Given the description of an element on the screen output the (x, y) to click on. 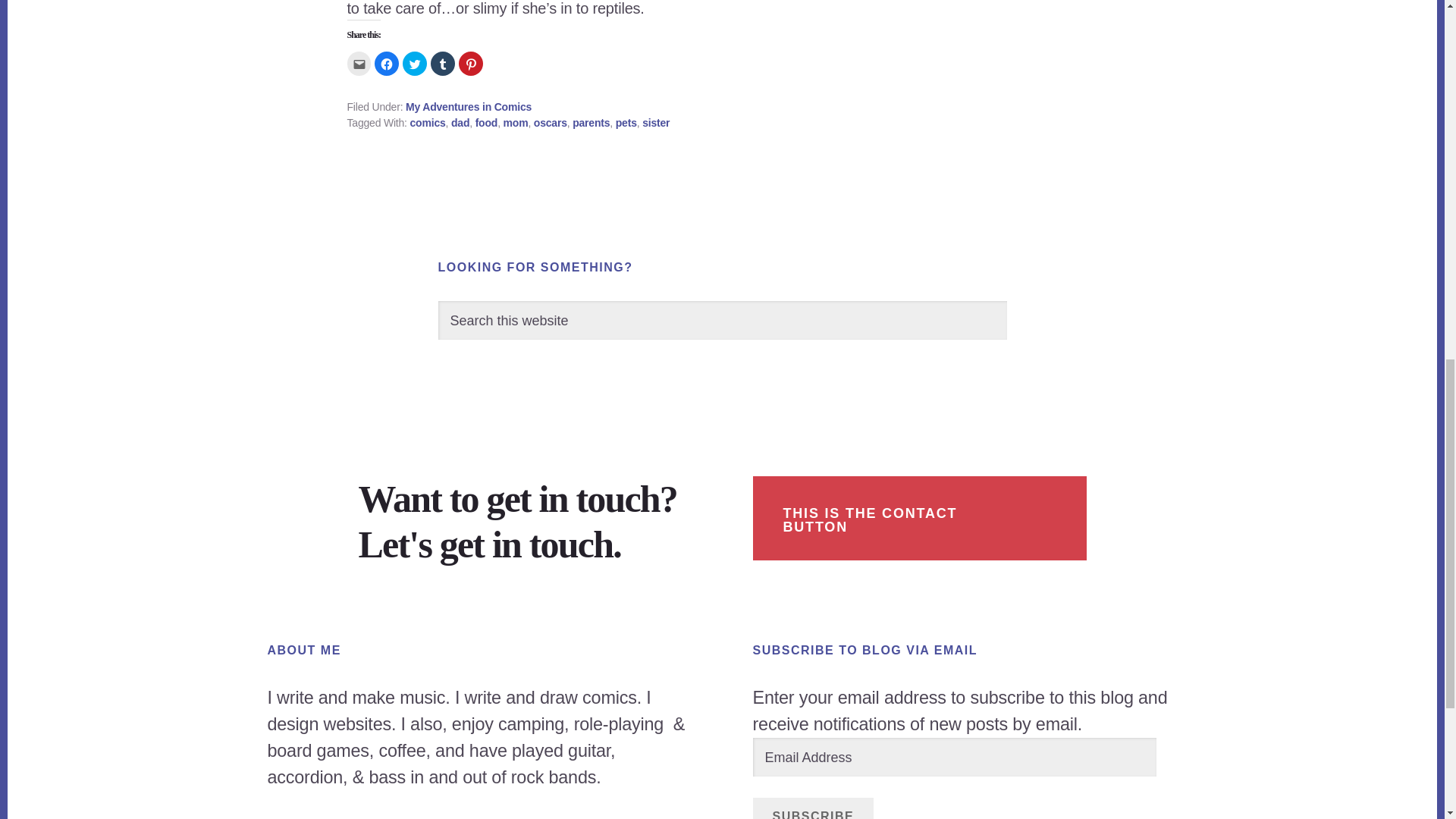
Click to share on Tumblr (442, 63)
SUBSCRIBE (812, 808)
dad (459, 122)
sister (655, 122)
Click to share on Twitter (414, 63)
Click to email this to a friend (359, 63)
Click to share on Pinterest (470, 63)
parents (591, 122)
